Given the description of an element on the screen output the (x, y) to click on. 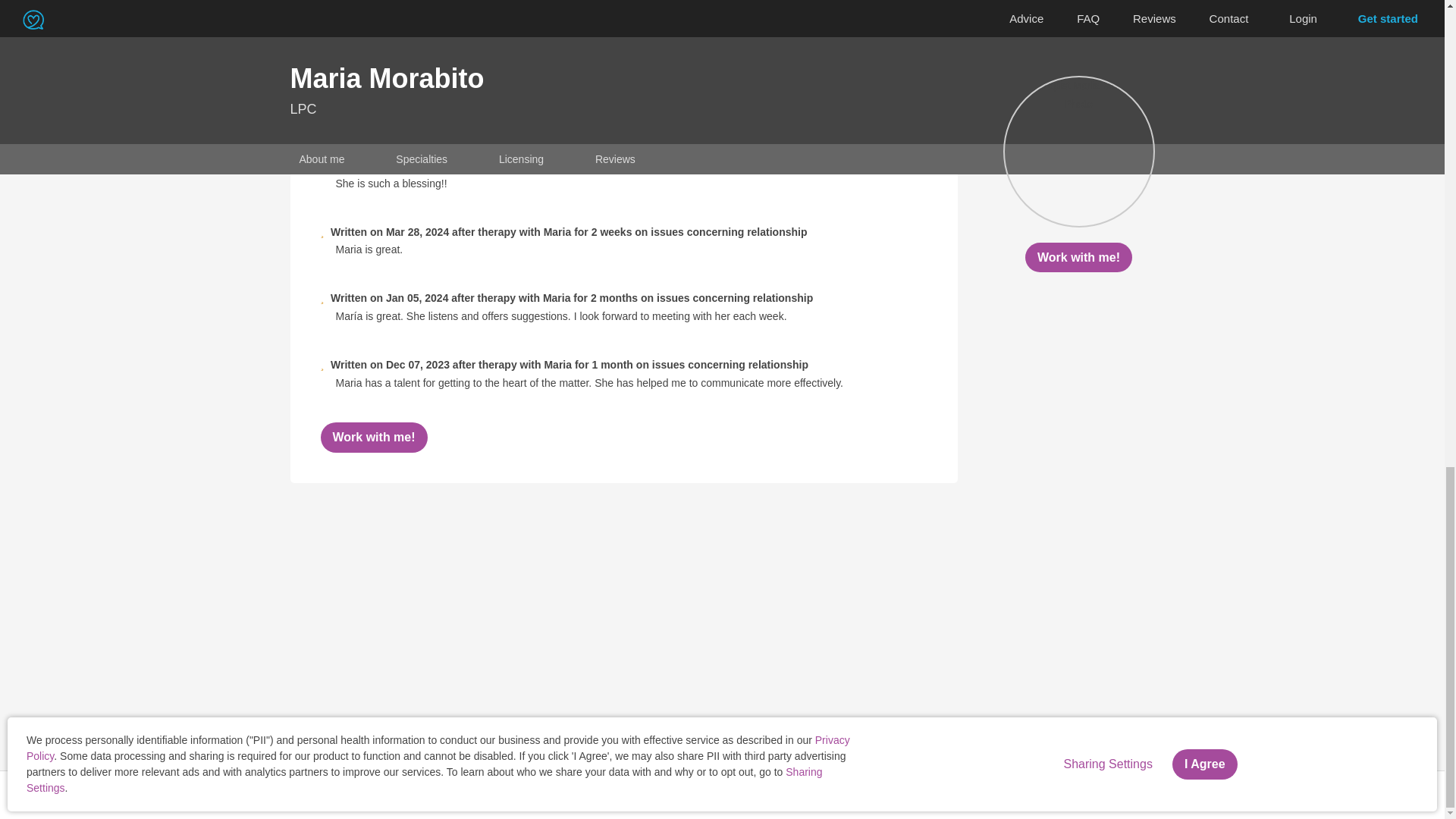
Work with me! (373, 437)
These resources (1303, 786)
Privacy Policy (146, 794)
Web Accessibility (316, 794)
Sharing Settings (227, 794)
